Given the description of an element on the screen output the (x, y) to click on. 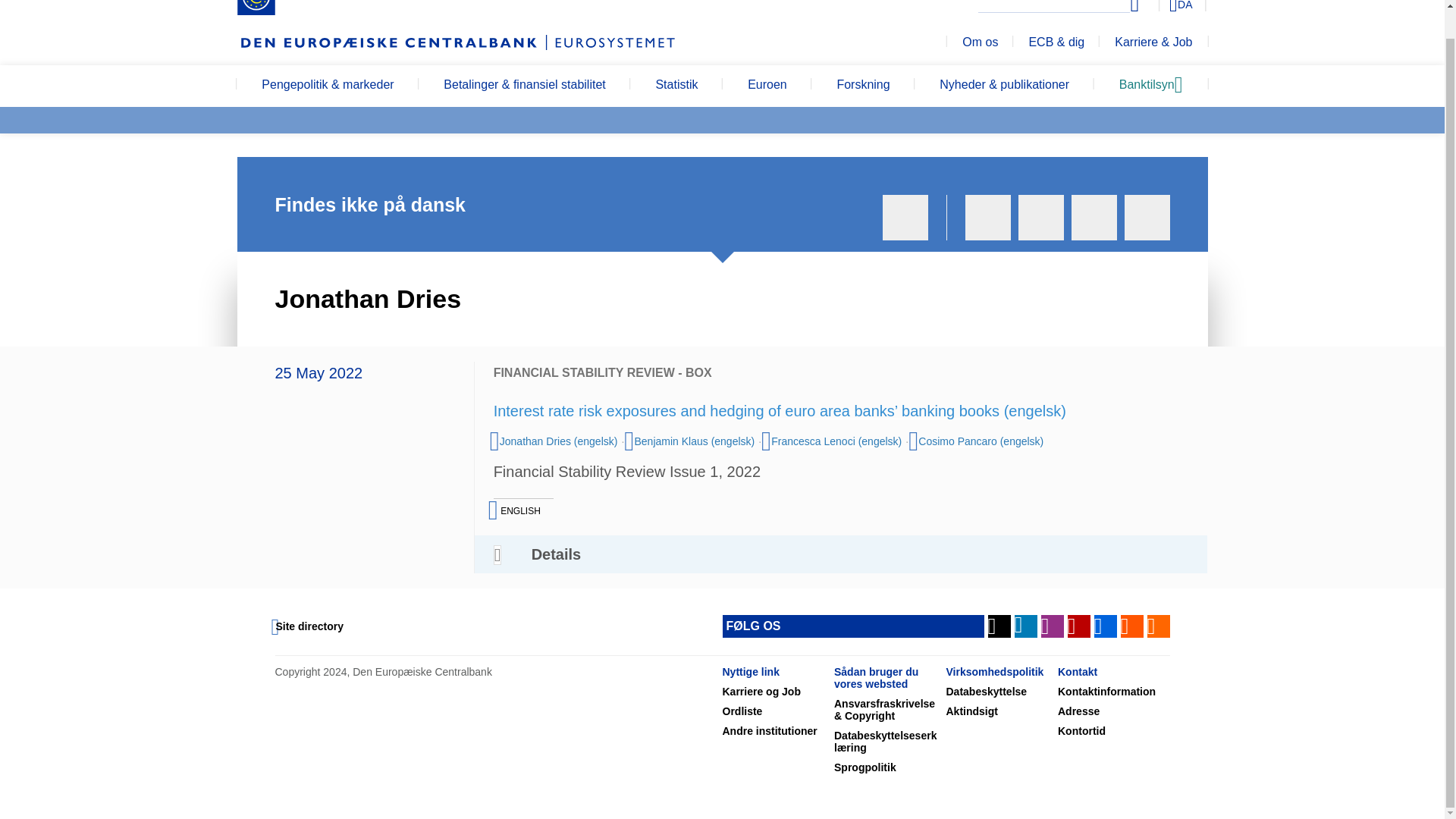
Select language (1153, 8)
